Given the description of an element on the screen output the (x, y) to click on. 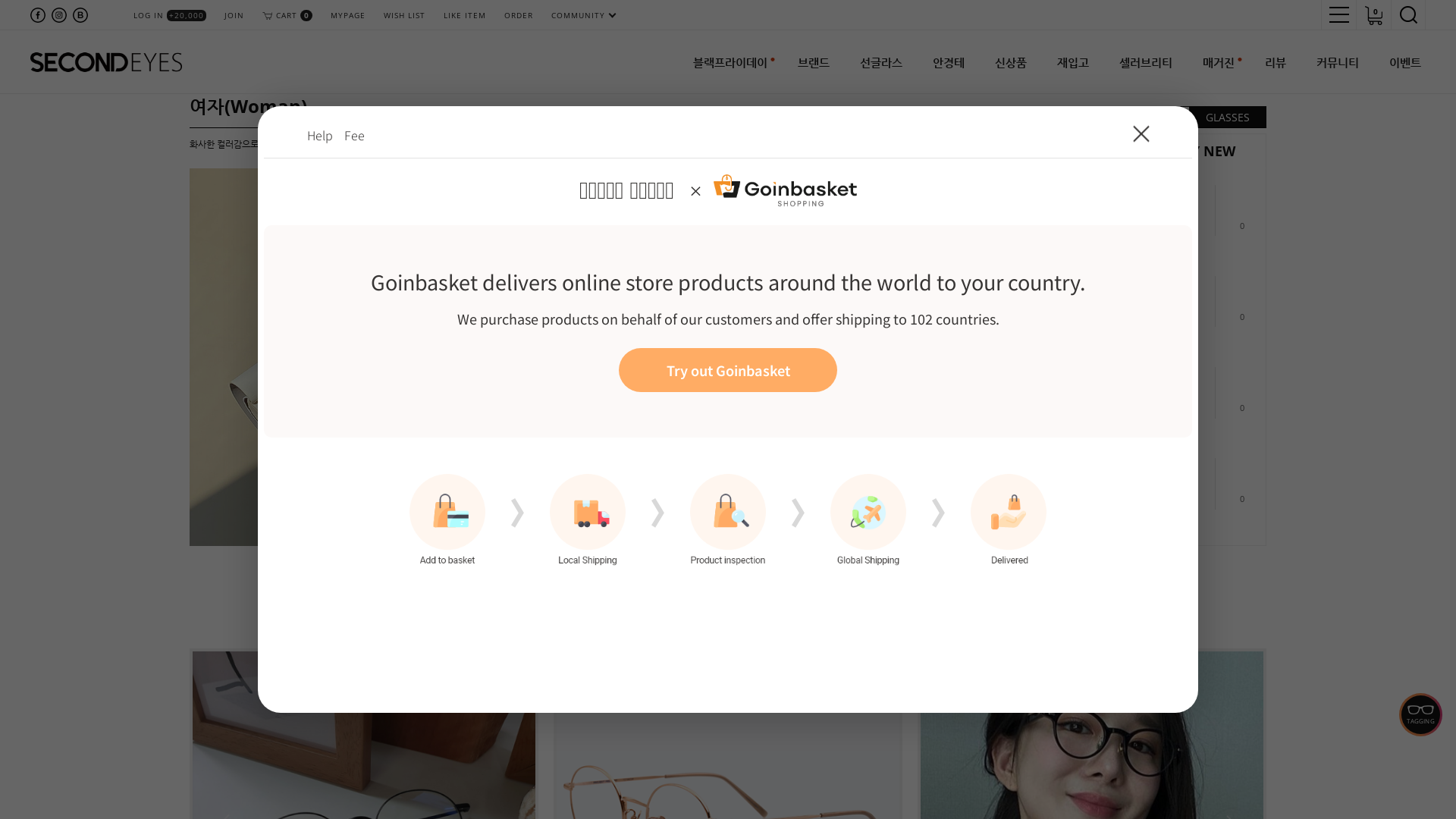
MYPAGE Element type: text (347, 14)
LOG IN +20,000 Element type: text (169, 15)
ORDER Element type: text (518, 14)
First Layer Element type: hover (727, 409)
GLASSES Element type: text (1227, 116)
LIKE ITEM Element type: text (464, 14)
0 Element type: text (1237, 475)
0 Element type: text (1237, 293)
WISH LIST Element type: text (404, 14)
  Element type: text (1407, 15)
JOIN Element type: text (234, 14)
 0 Element type: text (1372, 15)
CART 0 Element type: text (287, 14)
0 Element type: text (1237, 202)
0 Element type: text (1237, 384)
SUNGLASS Element type: text (1151, 116)
